Given the description of an element on the screen output the (x, y) to click on. 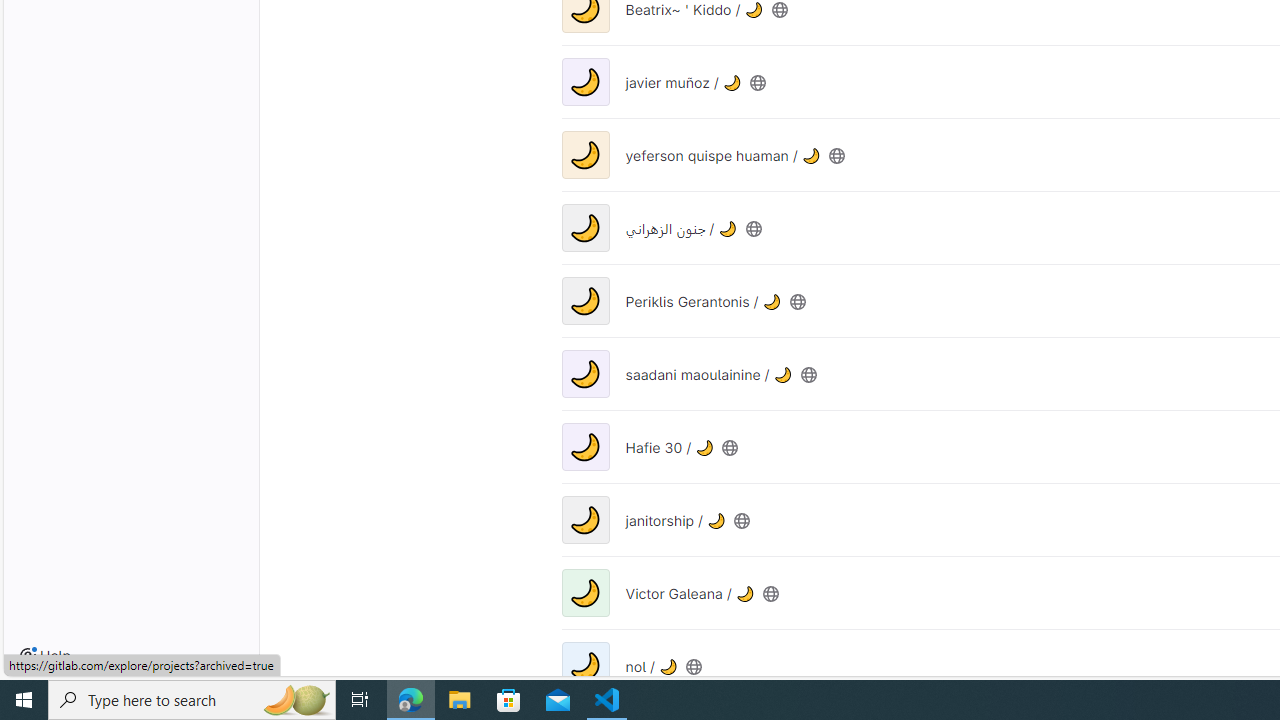
Class: s16 (694, 666)
